Given the description of an element on the screen output the (x, y) to click on. 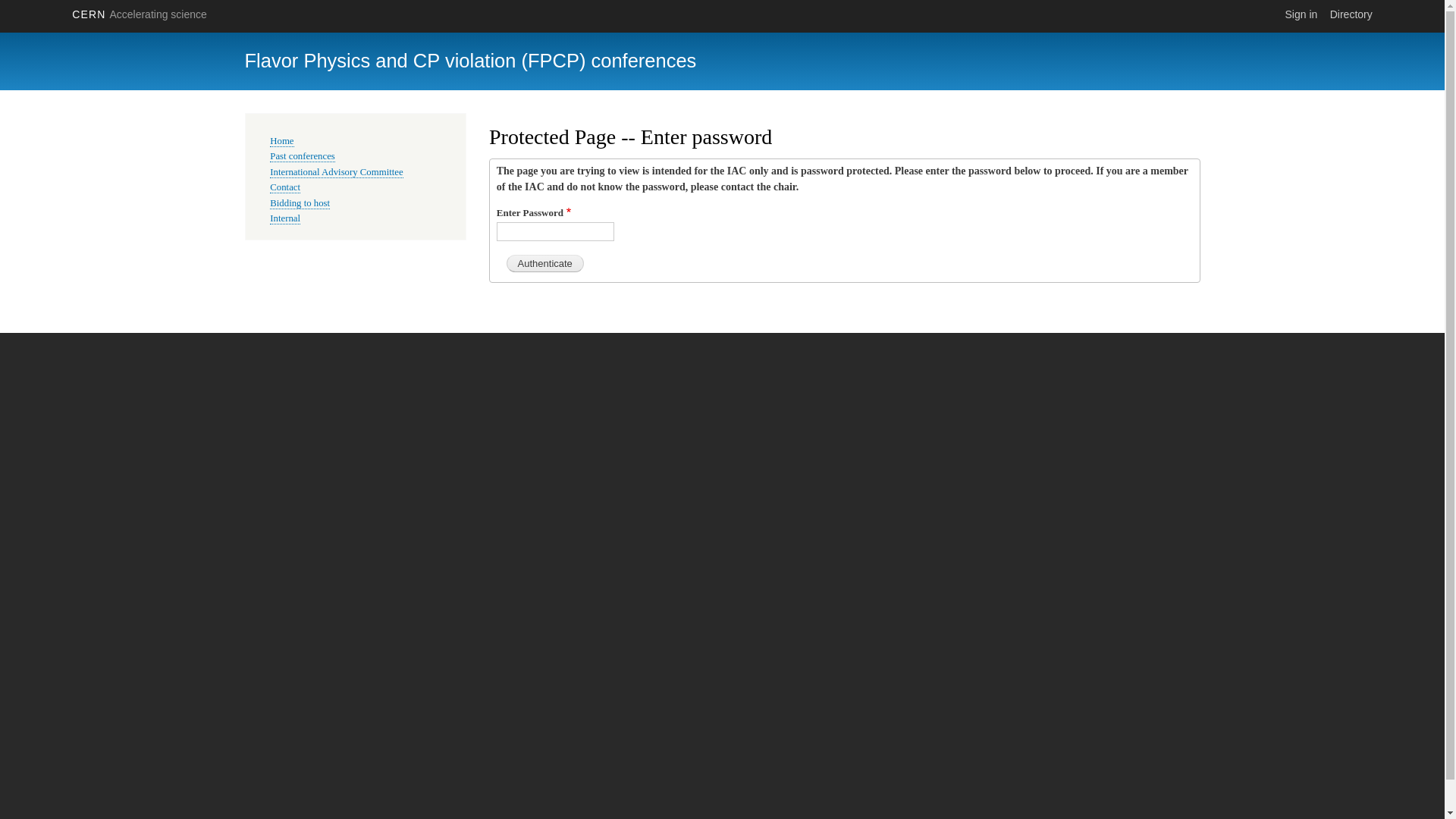
International Advisory Committee Element type: text (335, 172)
Authenticate Element type: text (544, 263)
Directory Element type: text (1351, 14)
Internal Element type: text (284, 218)
Flavor Physics and CP violation (FPCP) conferences Element type: text (470, 60)
Bidding to host Element type: text (299, 203)
Home Element type: text (281, 141)
Contact Element type: text (284, 187)
CERN Accelerating science Element type: text (139, 14)
Skip to main content Element type: text (722, 31)
Past conferences Element type: text (302, 156)
Sign in Element type: text (1301, 14)
